Given the description of an element on the screen output the (x, y) to click on. 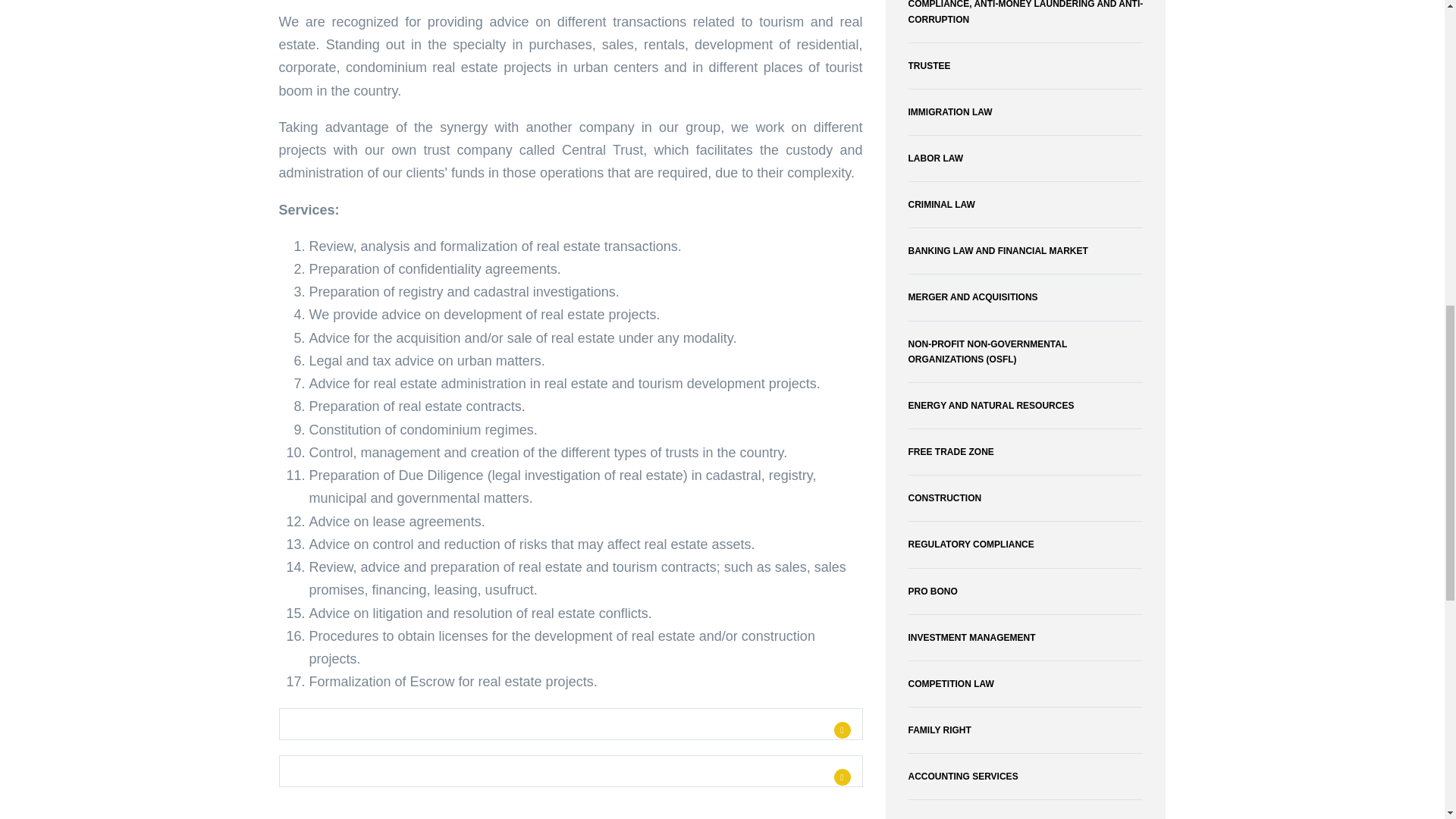
COMPLIANCE, ANTI-MONEY LAUNDERING AND ANTI-CORRUPTION (1025, 15)
TRUSTEE (1025, 65)
